Given the description of an element on the screen output the (x, y) to click on. 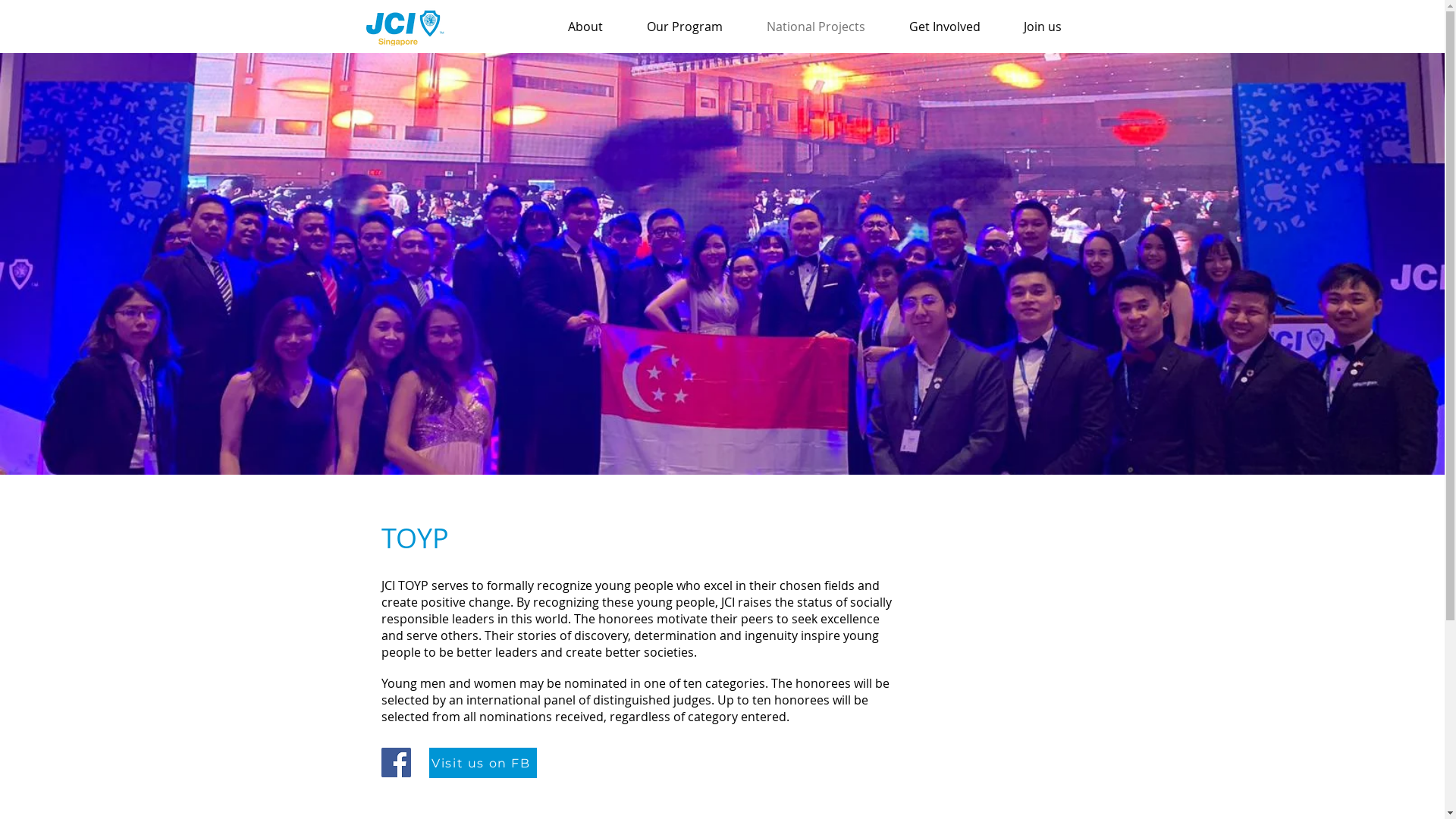
Our Program Element type: text (695, 26)
Get Involved Element type: text (954, 26)
Visit us on FB Element type: text (482, 762)
About Element type: text (595, 26)
National Projects Element type: text (826, 26)
Join us Element type: text (1051, 26)
